Given the description of an element on the screen output the (x, y) to click on. 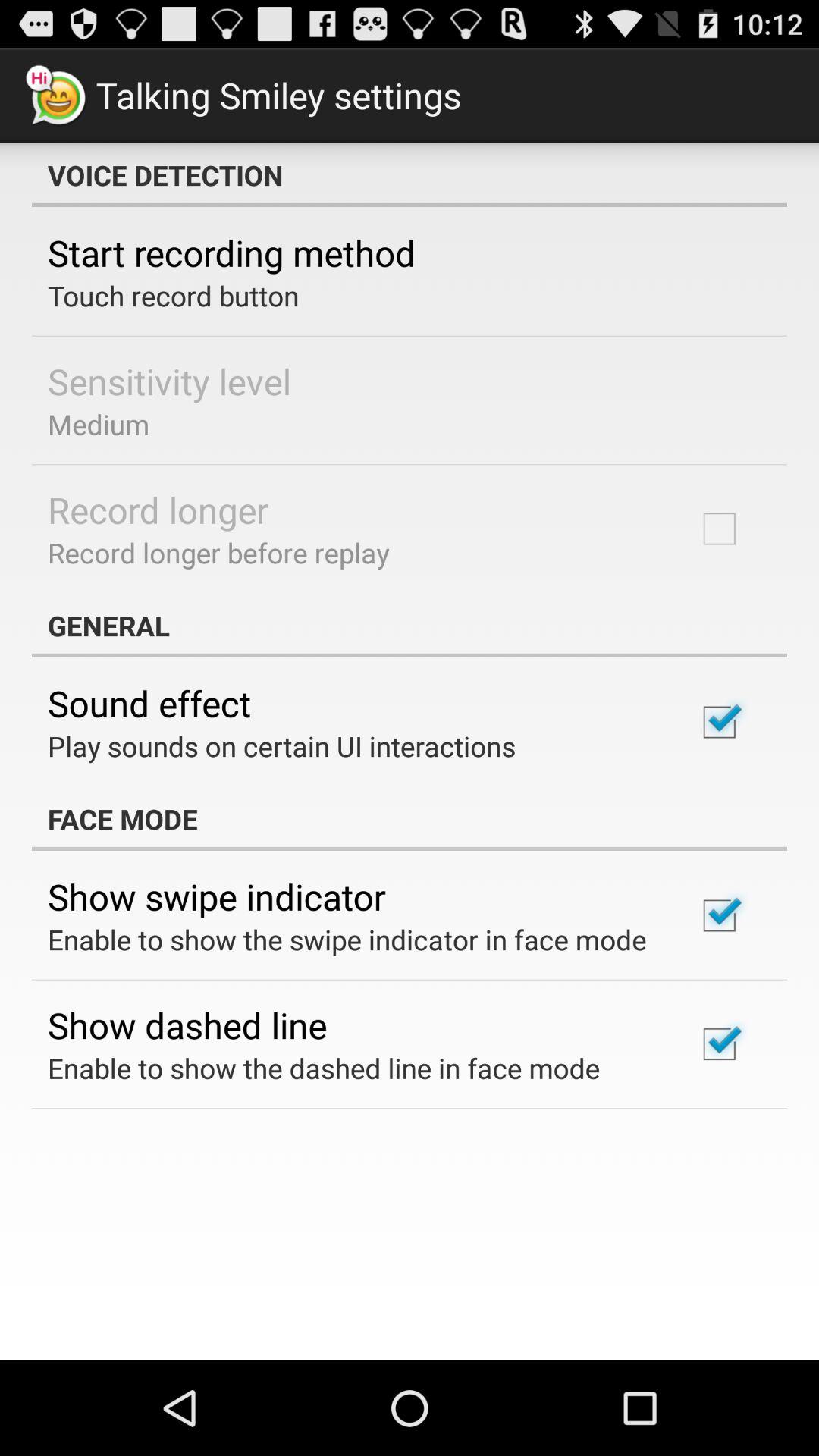
flip until sensitivity level app (169, 381)
